Given the description of an element on the screen output the (x, y) to click on. 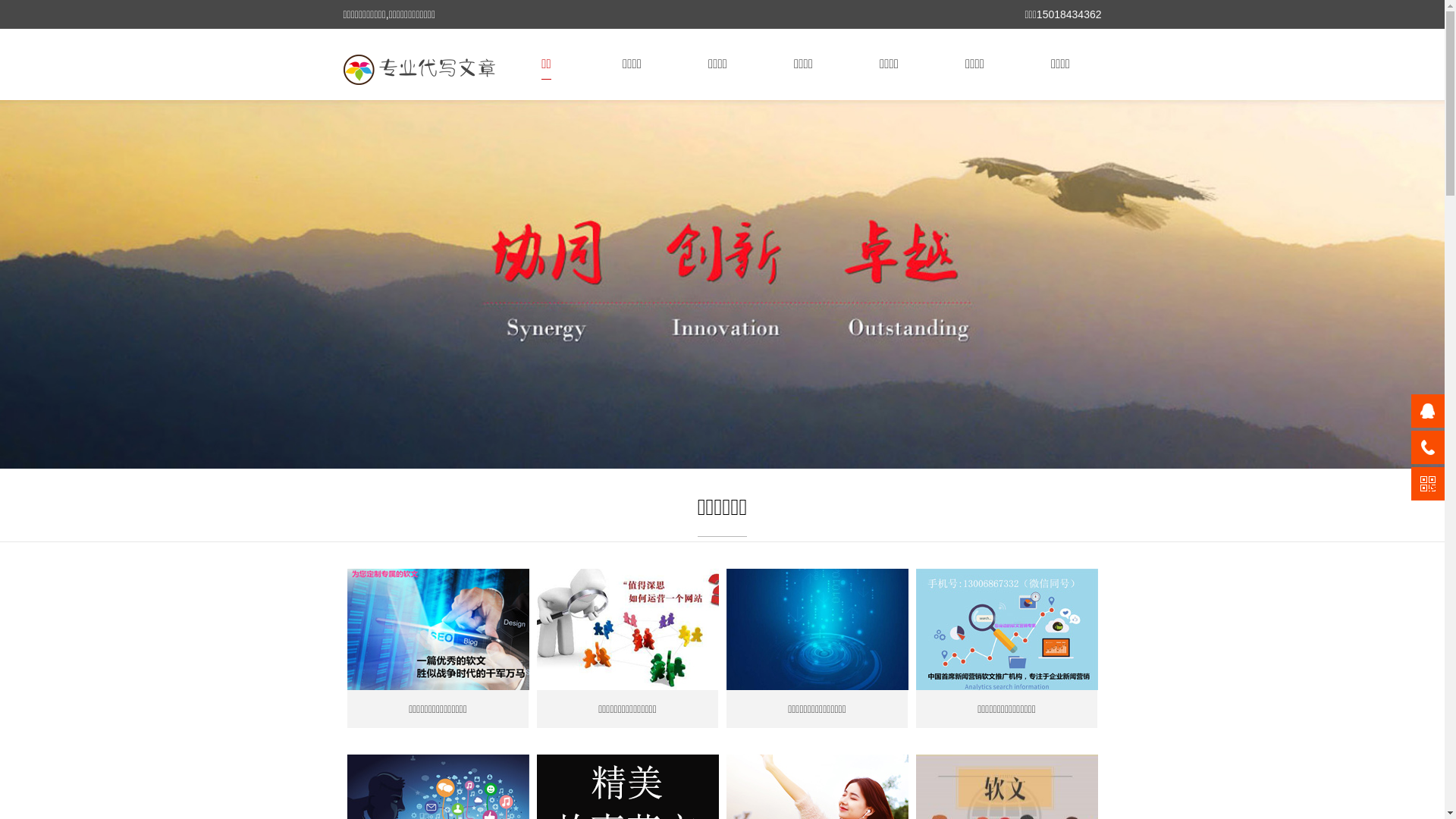
4 Element type: text (752, 447)
1 Element type: text (693, 447)
2 Element type: text (712, 447)
3 Element type: text (732, 447)
